Given the description of an element on the screen output the (x, y) to click on. 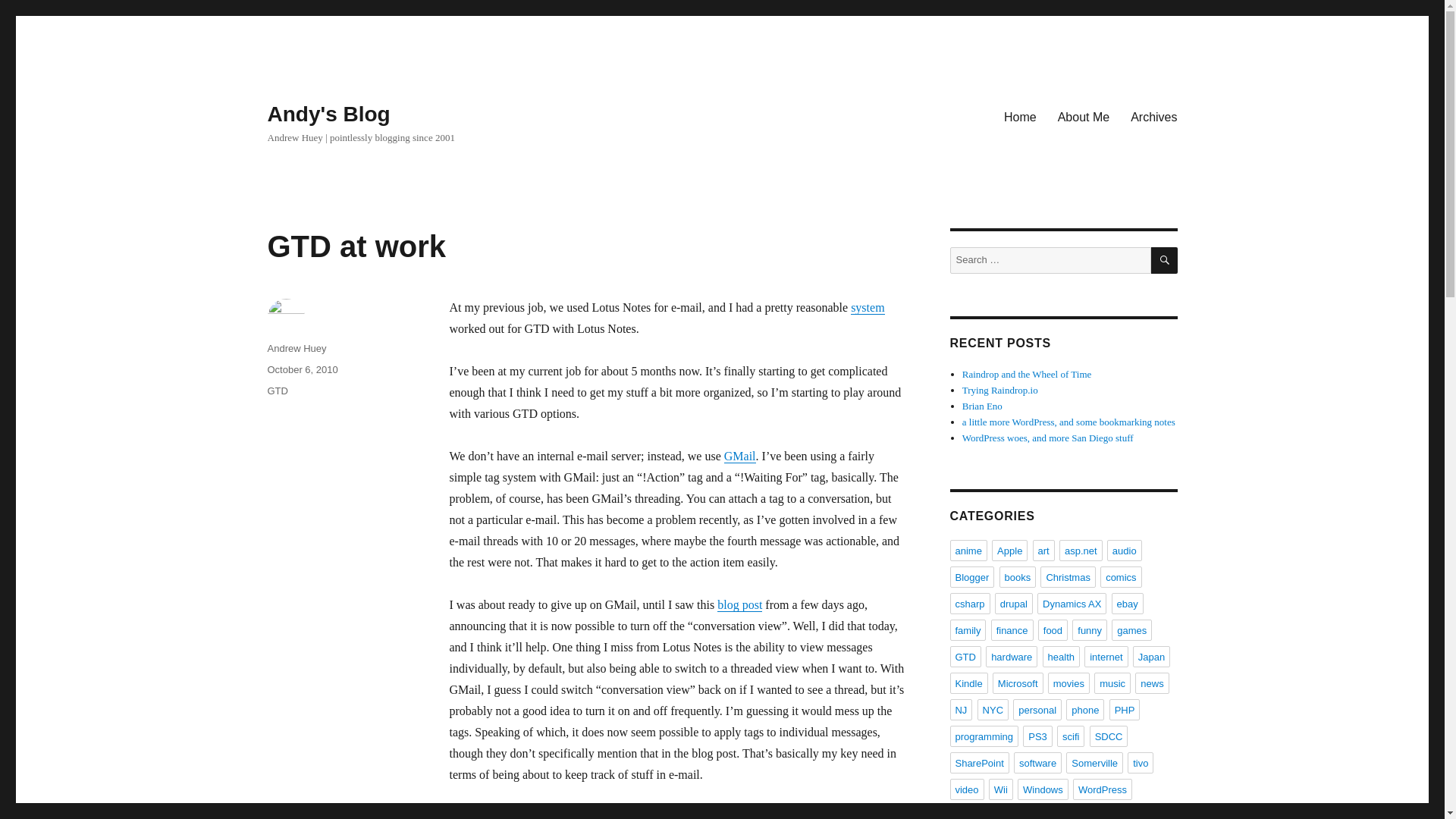
Trying Raindrop.io (1000, 389)
SEARCH (1164, 260)
About Me (1082, 116)
October 6, 2010 (301, 369)
Apple (1009, 550)
WordPress woes, and more San Diego stuff (1048, 437)
Brian Eno (982, 405)
asp.net (1080, 550)
books (1017, 577)
GMail (739, 455)
